Given the description of an element on the screen output the (x, y) to click on. 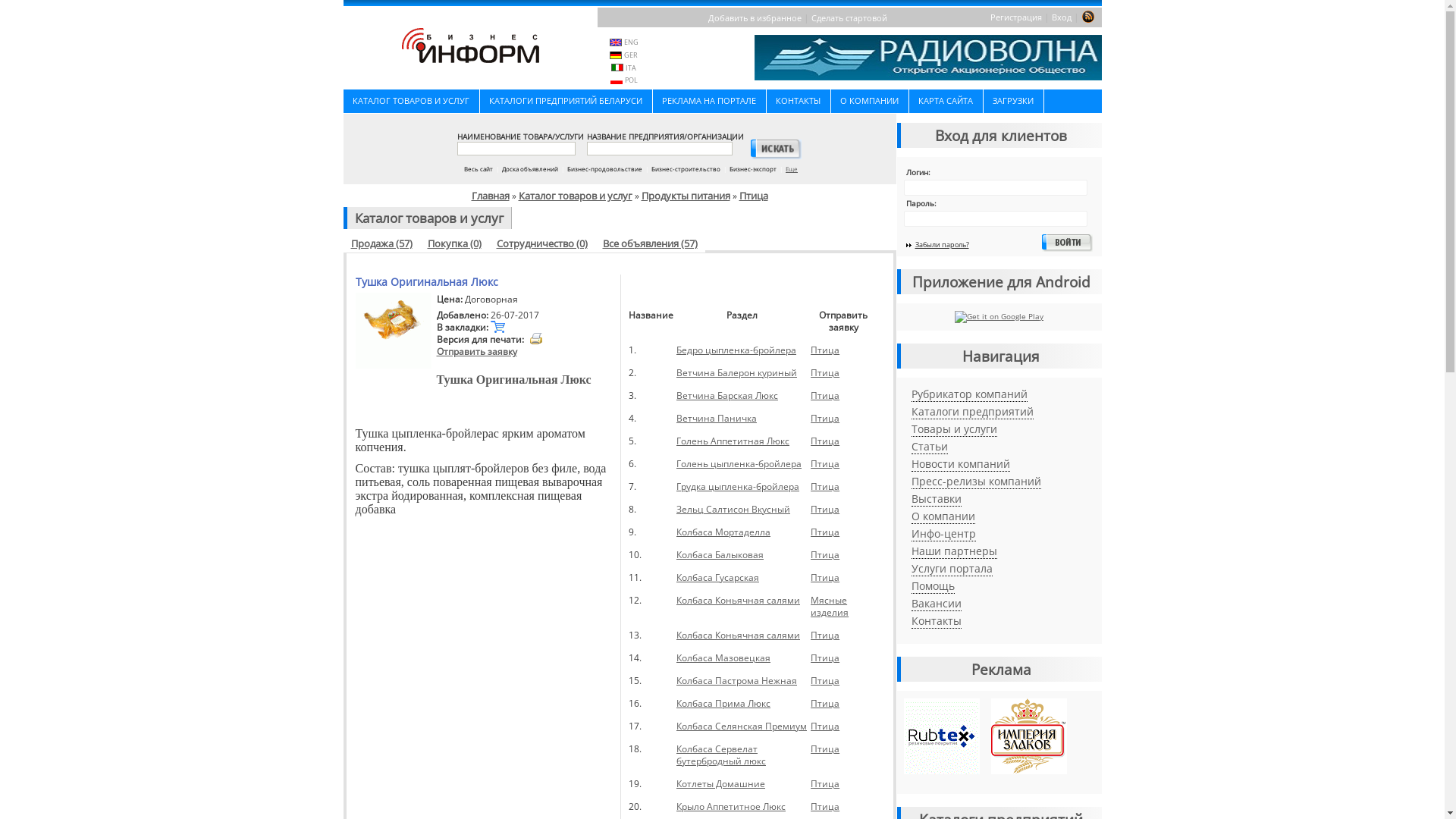
POL Element type: text (630, 79)
ENG Element type: text (630, 42)
GER Element type: text (630, 54)
ITA Element type: text (630, 67)
